Given the description of an element on the screen output the (x, y) to click on. 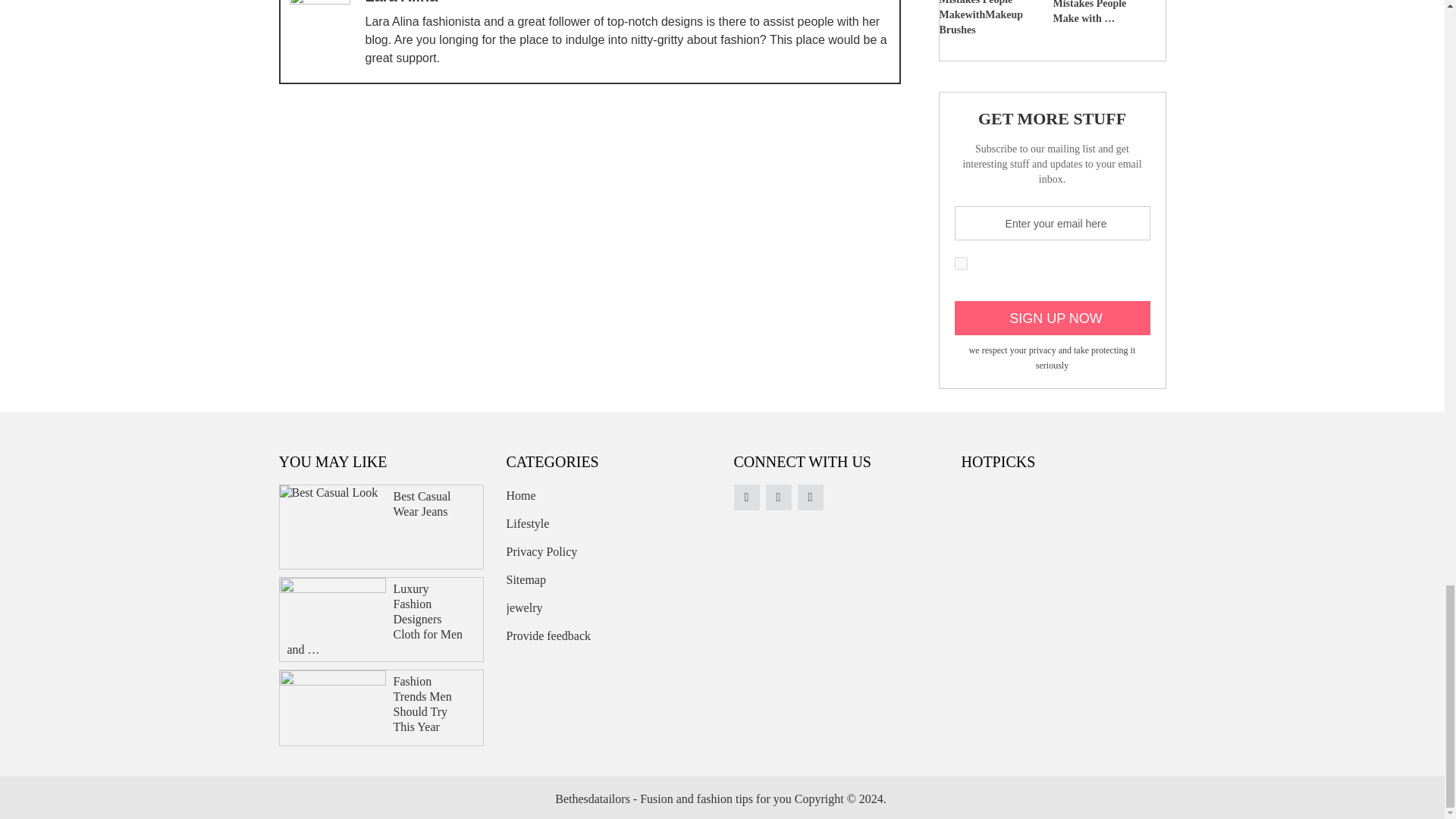
on (959, 263)
Sign Up Now (1051, 317)
Lara Alina (401, 2)
